Given the description of an element on the screen output the (x, y) to click on. 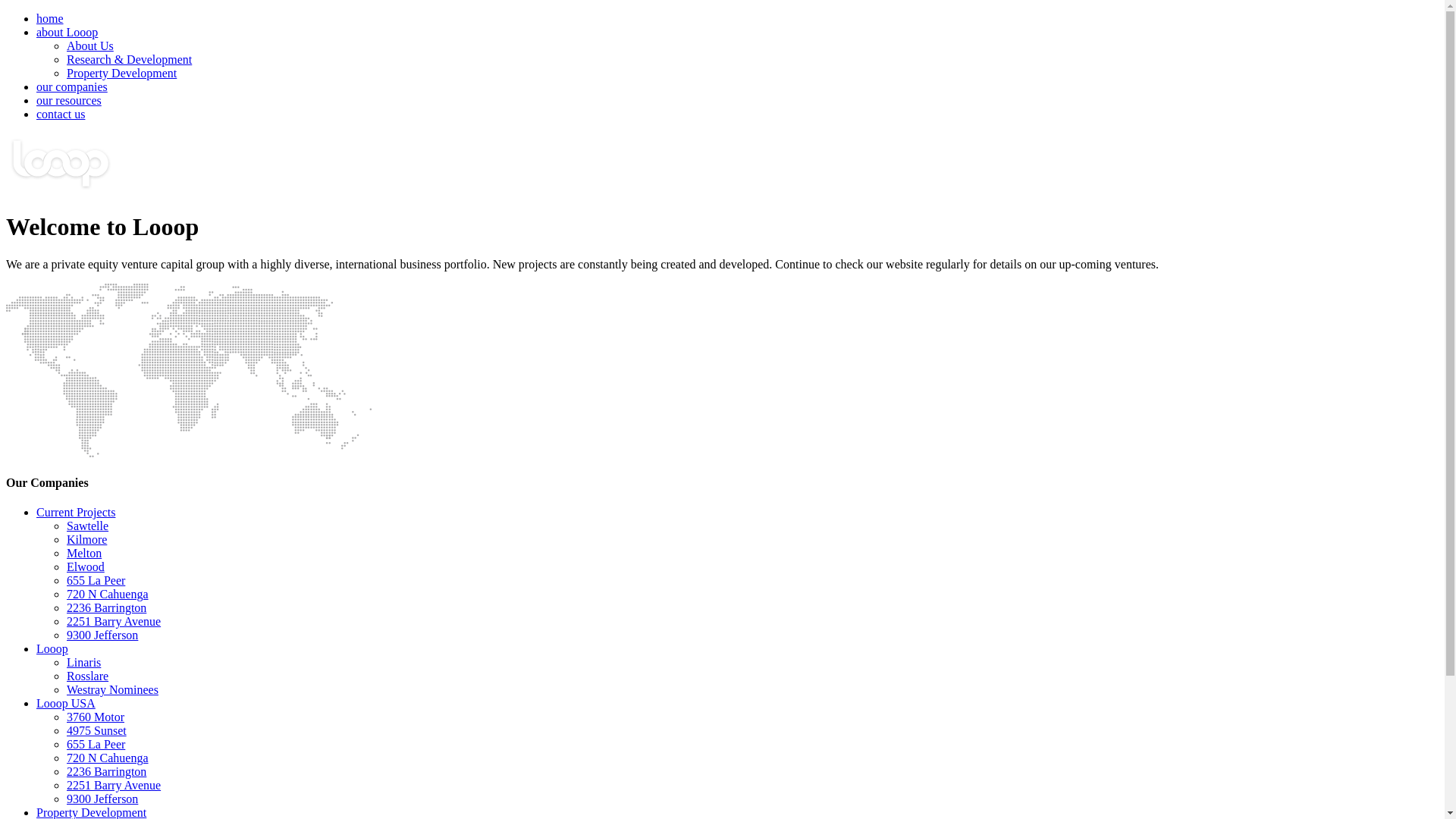
Kilmore Element type: text (86, 539)
2251 Barry Avenue Element type: text (113, 784)
9300 Jefferson Element type: text (102, 634)
Property Development Element type: text (121, 72)
Elwood Element type: text (85, 566)
Map Element type: hover (188, 370)
about Looop Element type: text (66, 31)
contact us Element type: text (60, 113)
720 N Cahuenga Element type: text (107, 593)
720 N Cahuenga Element type: text (107, 757)
Looop USA Element type: text (65, 702)
Looop Homepage Element type: hover (61, 189)
our companies Element type: text (71, 86)
About Us Element type: text (89, 45)
Rosslare Element type: text (87, 675)
2236 Barrington Element type: text (106, 607)
Research & Development Element type: text (128, 59)
655 La Peer Element type: text (95, 580)
Looop Element type: text (52, 648)
home Element type: text (49, 18)
2236 Barrington Element type: text (106, 771)
Current Projects Element type: text (75, 511)
our resources Element type: text (68, 100)
9300 Jefferson Element type: text (102, 798)
655 La Peer Element type: text (95, 743)
2251 Barry Avenue Element type: text (113, 621)
4975 Sunset Element type: text (96, 730)
Westray Nominees Element type: text (112, 689)
Linaris Element type: text (83, 661)
Sawtelle Element type: text (87, 525)
Melton Element type: text (83, 552)
3760 Motor Element type: text (95, 716)
